Given the description of an element on the screen output the (x, y) to click on. 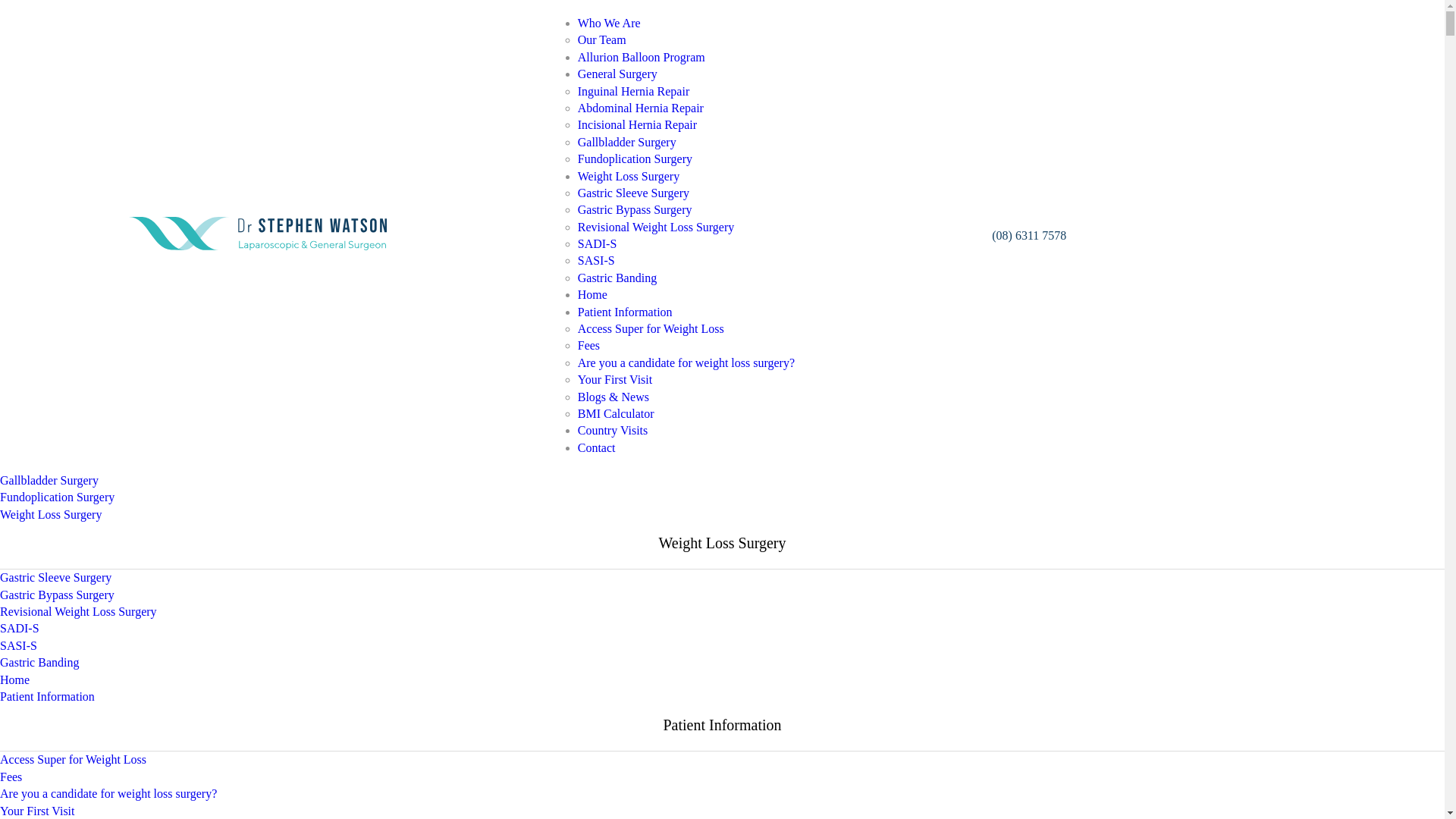
X Element type: text (4, 25)
Gastric Sleeve Surgery Element type: text (55, 577)
SASI-S Element type: text (596, 260)
Weight Loss Surgery Element type: text (628, 175)
Are you a candidate for weight loss surgery? Element type: text (685, 362)
Revisional Weight Loss Surgery Element type: text (78, 611)
BMI Calculator Element type: text (615, 413)
Gastric Banding Element type: text (616, 277)
Patient Information Element type: text (47, 696)
SASI-S Element type: text (18, 645)
Gastric Bypass Surgery Element type: text (57, 594)
SADI-S Element type: text (19, 627)
Abdominal Hernia Repair Element type: text (640, 107)
Country Visits Element type: text (612, 429)
Fundoplication Surgery Element type: text (57, 496)
Abdominal Hernia Repair Element type: text (62, 445)
Your First Visit Element type: text (37, 810)
SADI-S Element type: text (597, 243)
Allurion Balloon Program Element type: text (63, 348)
(08) 6311 7578 Element type: text (1028, 235)
Gastric Banding Element type: text (39, 661)
Our Team Element type: text (601, 39)
Incisional Hernia Repair Element type: text (59, 463)
Access Super for Weight Loss Element type: text (650, 328)
Home Element type: text (14, 679)
Gallbladder Surgery Element type: text (626, 141)
Contact Element type: text (596, 447)
Patient Information Element type: text (624, 311)
Fees Element type: text (10, 776)
Gastric Sleeve Surgery Element type: text (633, 192)
Home Element type: text (592, 294)
Are you a candidate for weight loss surgery? Element type: text (108, 793)
Inguinal Hernia Repair Element type: text (633, 90)
General Surgery Element type: text (617, 73)
General Surgery Element type: text (39, 365)
Blogs & News Element type: text (613, 396)
Gastric Bypass Surgery Element type: text (634, 209)
Weight Loss Surgery Element type: text (50, 514)
Access Super for Weight Loss Element type: text (73, 759)
Fundoplication Surgery Element type: text (634, 158)
Who We Are Element type: text (608, 22)
                            Element type: text (216, 245)
Our Team Element type: text (24, 332)
Incisional Hernia Repair Element type: text (636, 124)
Who We Are Element type: text (31, 268)
Your First Visit Element type: text (614, 379)
Fees Element type: text (588, 344)
Allurion Balloon Program Element type: text (641, 56)
Gallbladder Surgery Element type: text (49, 479)
Revisional Weight Loss Surgery Element type: text (655, 226)
Inguinal Hernia Repair Element type: text (56, 429)
